Given the description of an element on the screen output the (x, y) to click on. 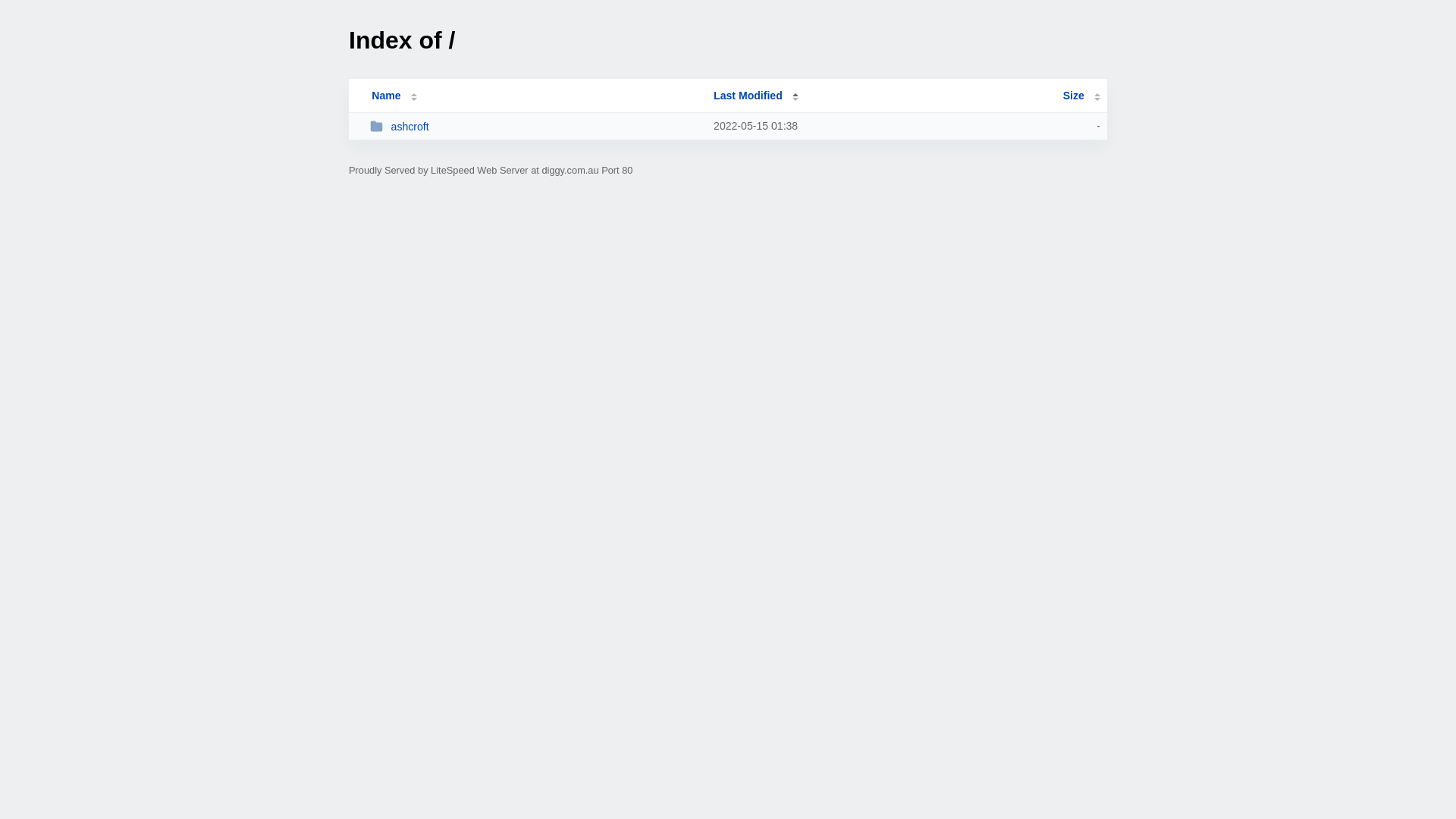
Size Element type: text (1081, 95)
Last Modified Element type: text (755, 95)
ashcroft Element type: text (534, 125)
Name Element type: text (385, 95)
